Given the description of an element on the screen output the (x, y) to click on. 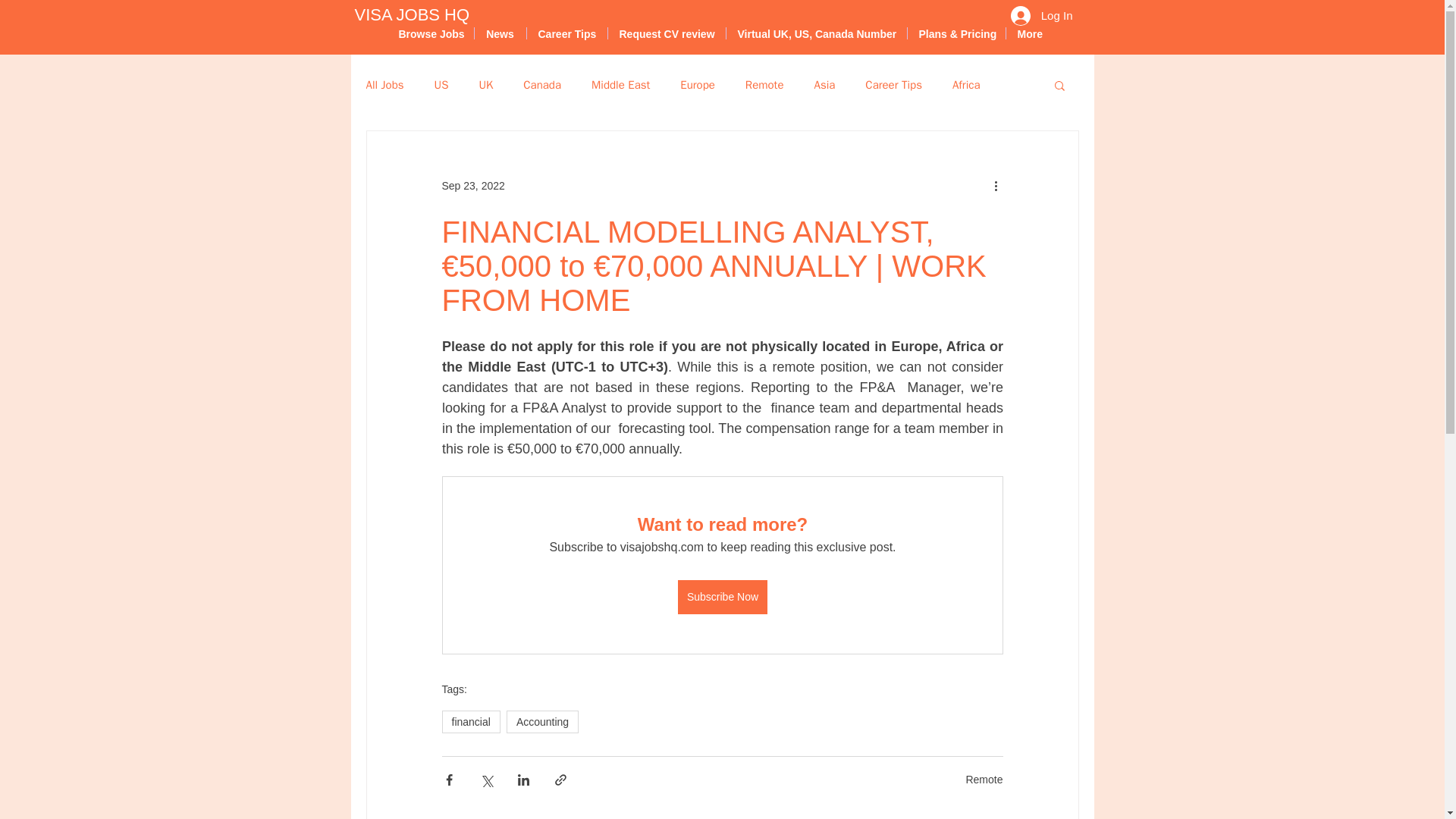
Canada (541, 83)
Sep 23, 2022 (472, 184)
Accounting (542, 721)
Virtual UK, US, Canada Number (816, 33)
Career Tips (566, 33)
Europe (696, 83)
Africa (965, 83)
Asia (823, 83)
financial (470, 721)
Career Tips (892, 83)
News (499, 33)
UK (486, 83)
Log In (1041, 15)
Subscribe Now (722, 596)
Remote (764, 83)
